Given the description of an element on the screen output the (x, y) to click on. 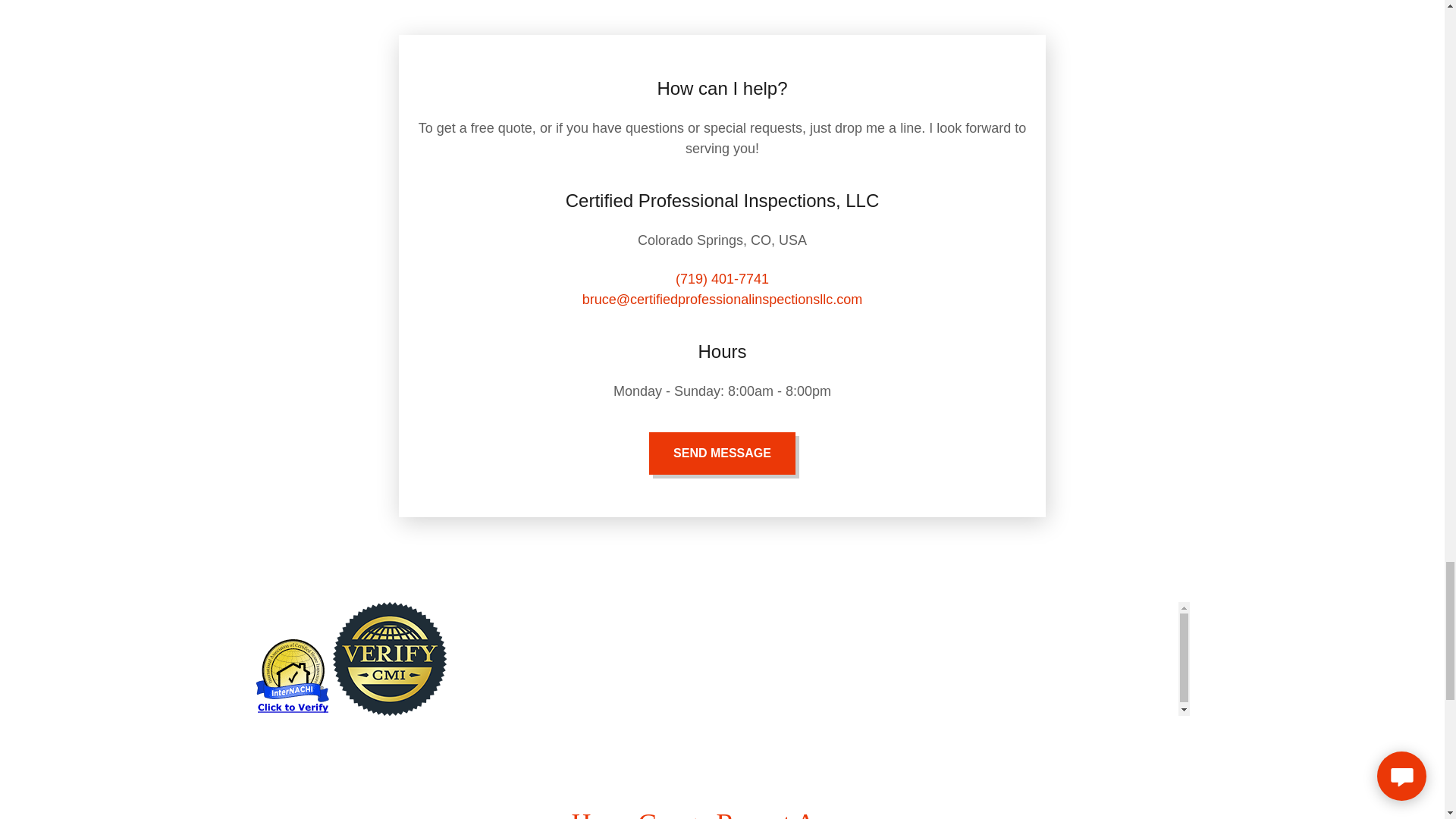
SEND MESSAGE (721, 453)
